Given the description of an element on the screen output the (x, y) to click on. 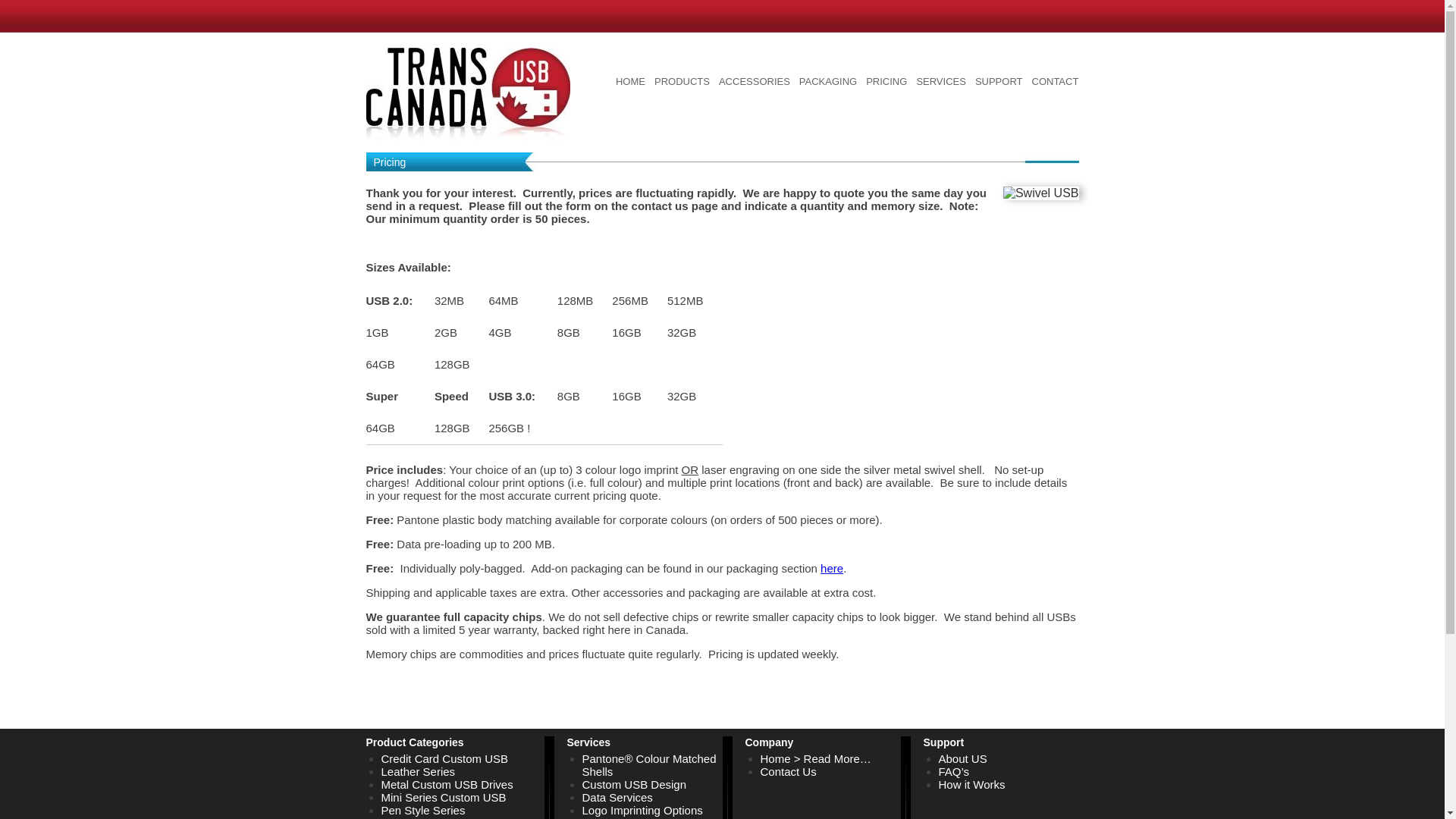
HOME (630, 83)
Metal Custom USB Drives (446, 784)
Pen Style Series (422, 809)
Credit Card Custom USB (444, 758)
PACKAGING (828, 83)
SUPPORT (999, 82)
PRICING (886, 83)
Custom USB Design (634, 784)
Plastic Series (414, 817)
Mini Series Custom USB (442, 797)
Trans-Canada USB (467, 112)
Data Services (617, 797)
ACCESSORIES (754, 83)
About US (963, 758)
SERVICES (940, 82)
